Given the description of an element on the screen output the (x, y) to click on. 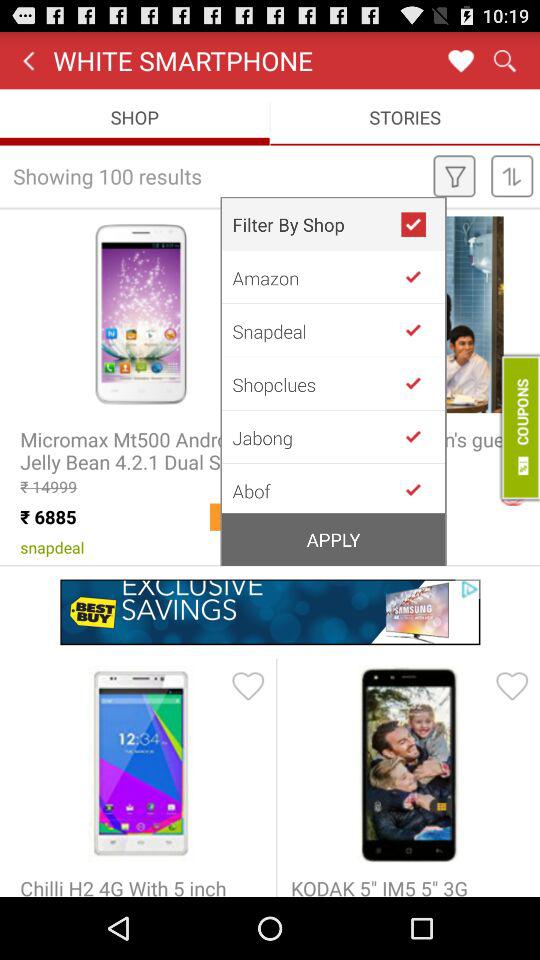
click the abof item (316, 489)
